Given the description of an element on the screen output the (x, y) to click on. 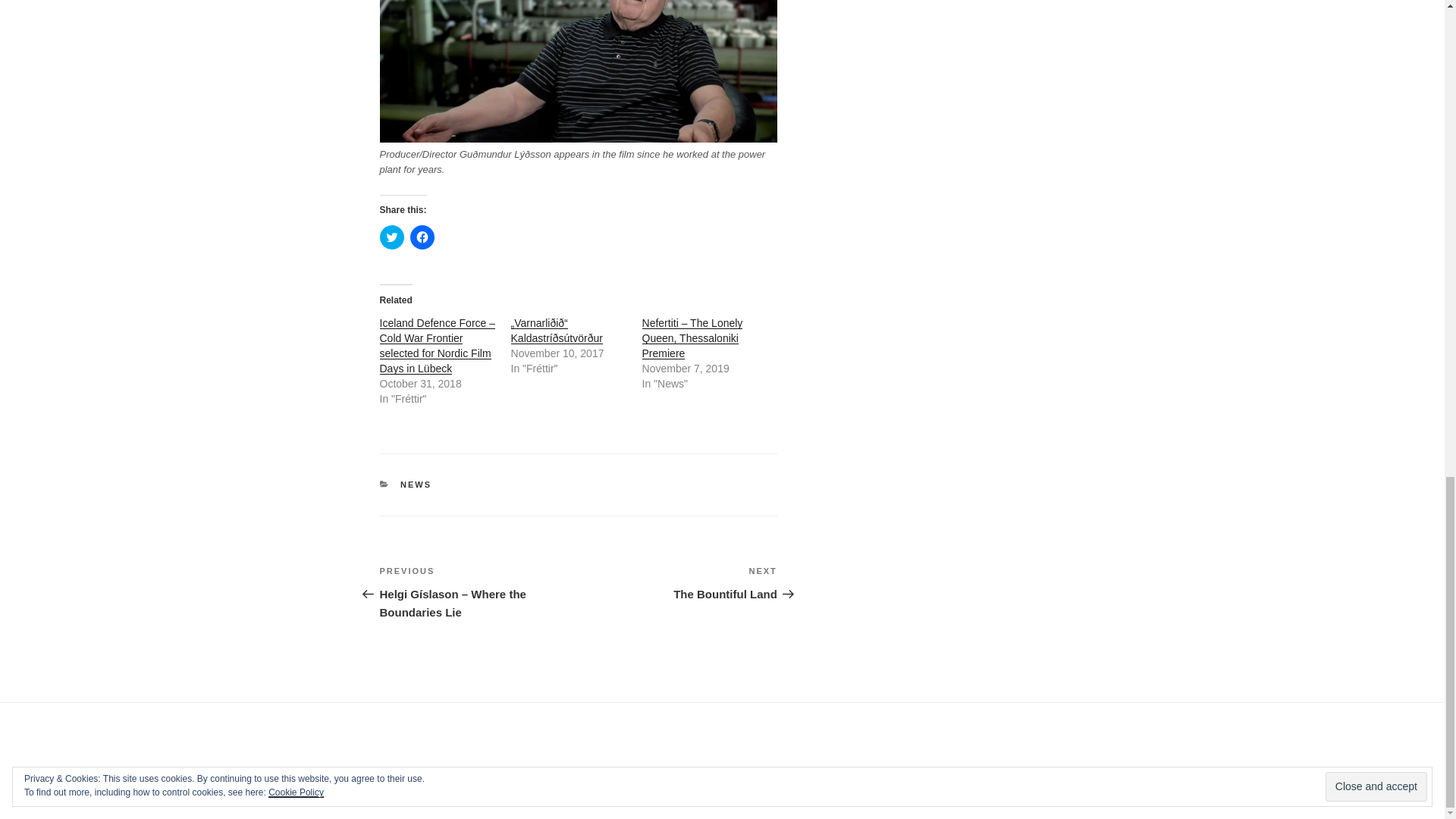
Projects (435, 781)
About (389, 781)
Click to share on Twitter (390, 237)
NEWS (415, 483)
Gallery (480, 781)
Click to share on Facebook (421, 237)
Proudly powered by WordPress (740, 782)
